Given the description of an element on the screen output the (x, y) to click on. 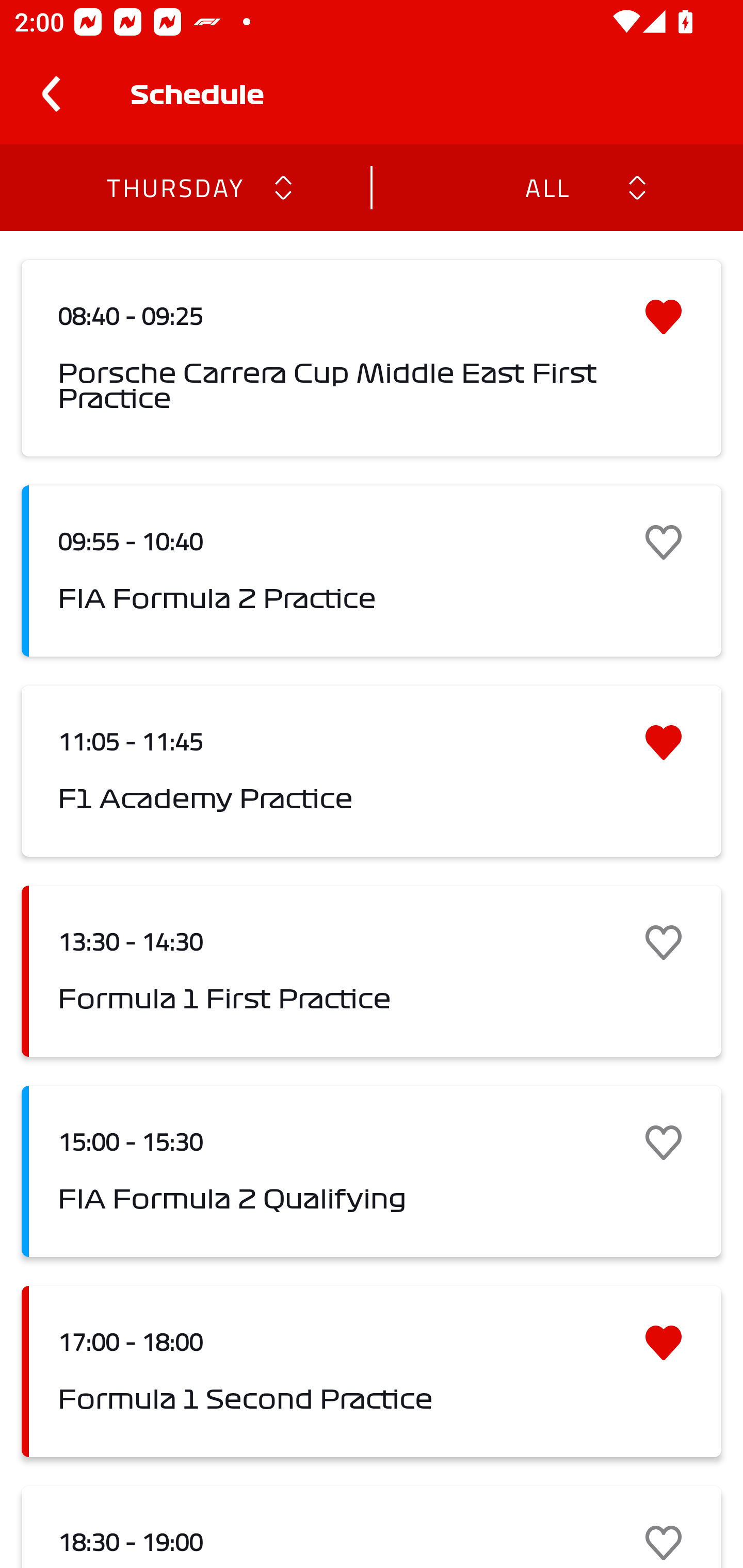
Navigate up (50, 93)
THURSDAY (174, 187)
ALL (546, 187)
09:55 - 10:40 FIA Formula 2 Practice (371, 571)
11:05 - 11:45 F1 Academy Practice (371, 770)
13:30 - 14:30 Formula 1 First Practice (371, 970)
15:00 - 15:30 FIA Formula 2 Qualifying (371, 1171)
17:00 - 18:00 Formula 1 Second Practice (371, 1370)
18:30 - 19:00 (371, 1527)
